Given the description of an element on the screen output the (x, y) to click on. 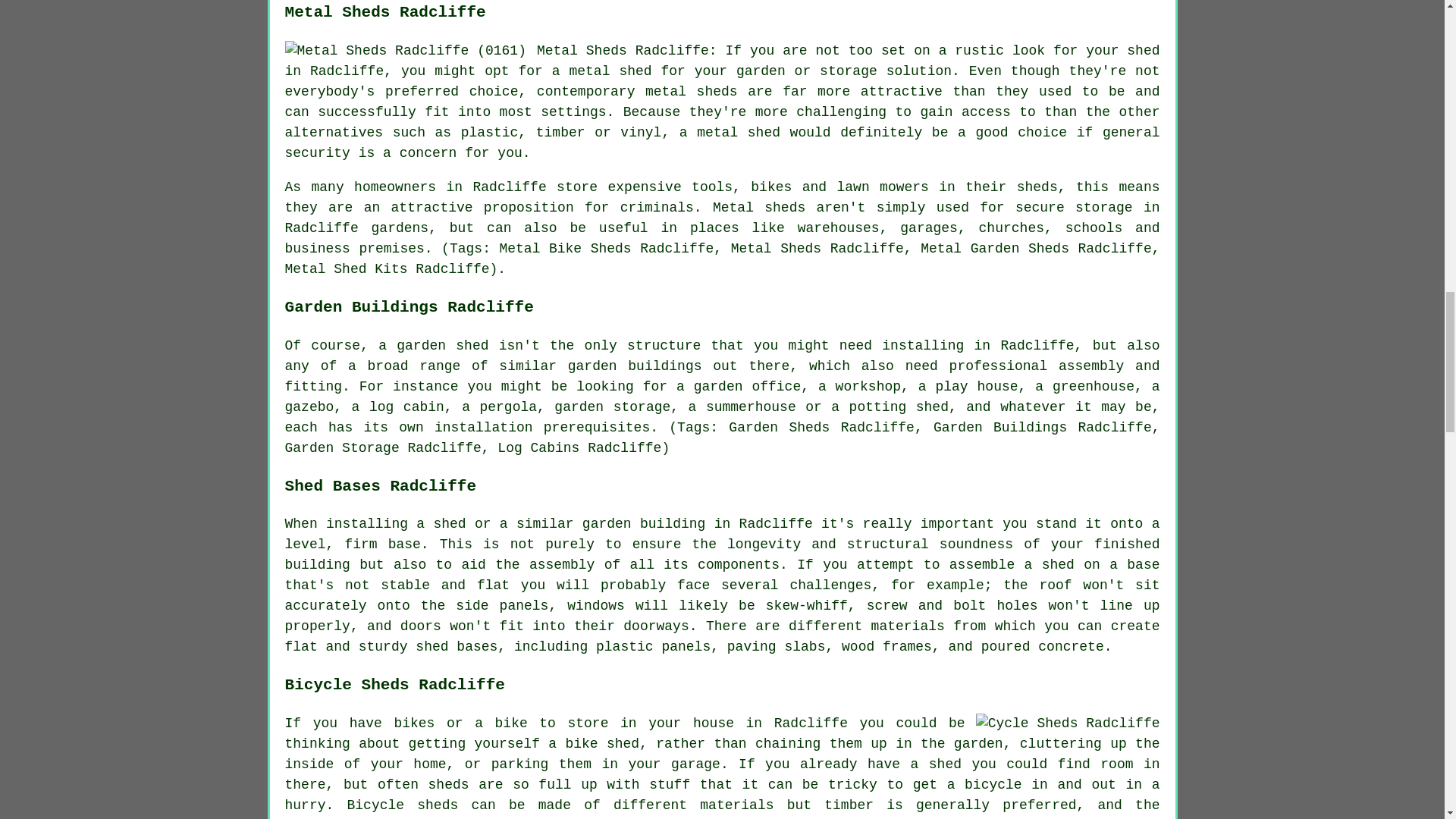
Cycle Sheds Radcliffe (1067, 723)
Metal Sheds Radcliffe (405, 50)
